Given the description of an element on the screen output the (x, y) to click on. 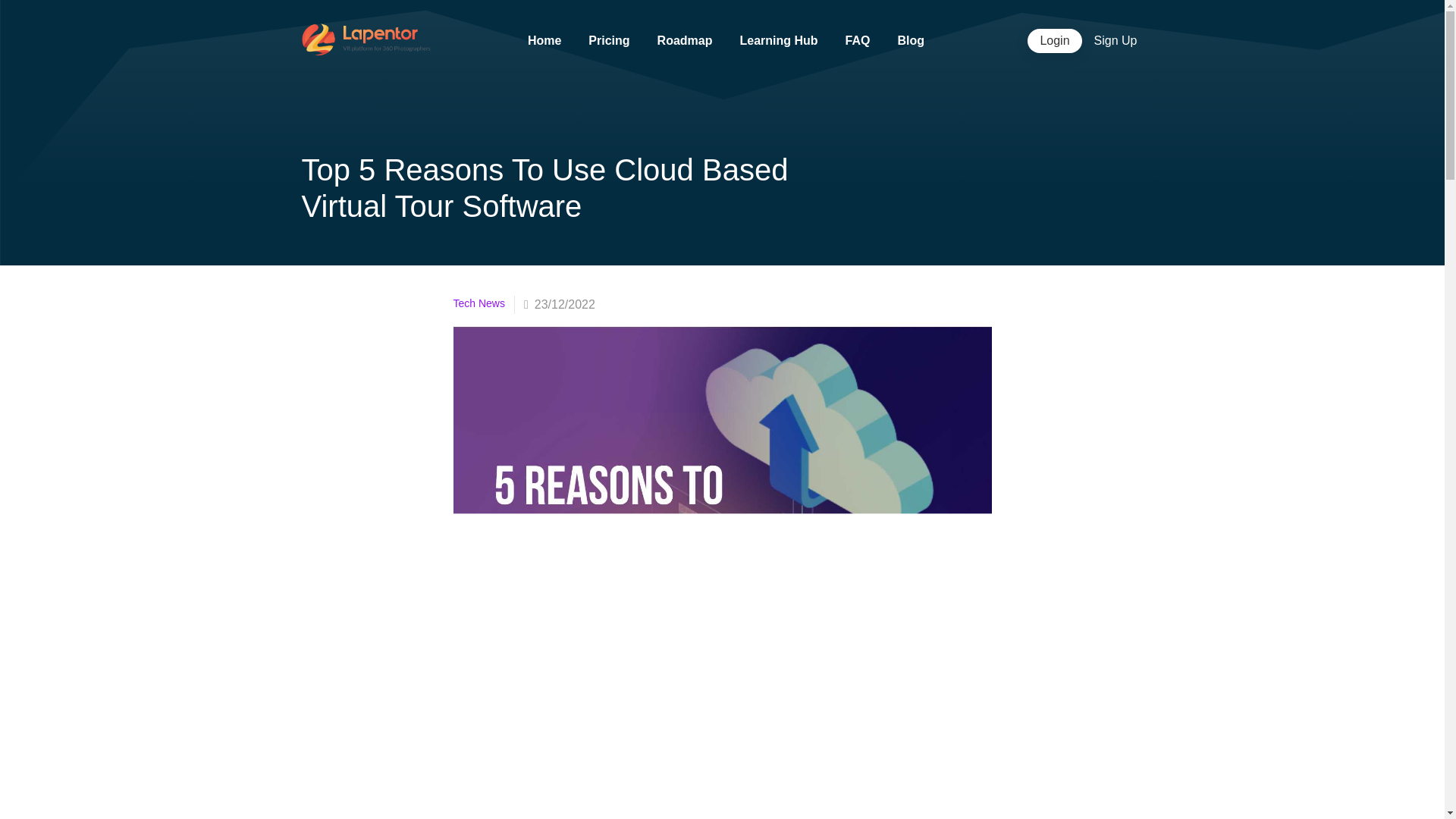
Login (1054, 40)
Learning Hub (777, 40)
Sign Up (1115, 40)
Tech News (483, 304)
